Given the description of an element on the screen output the (x, y) to click on. 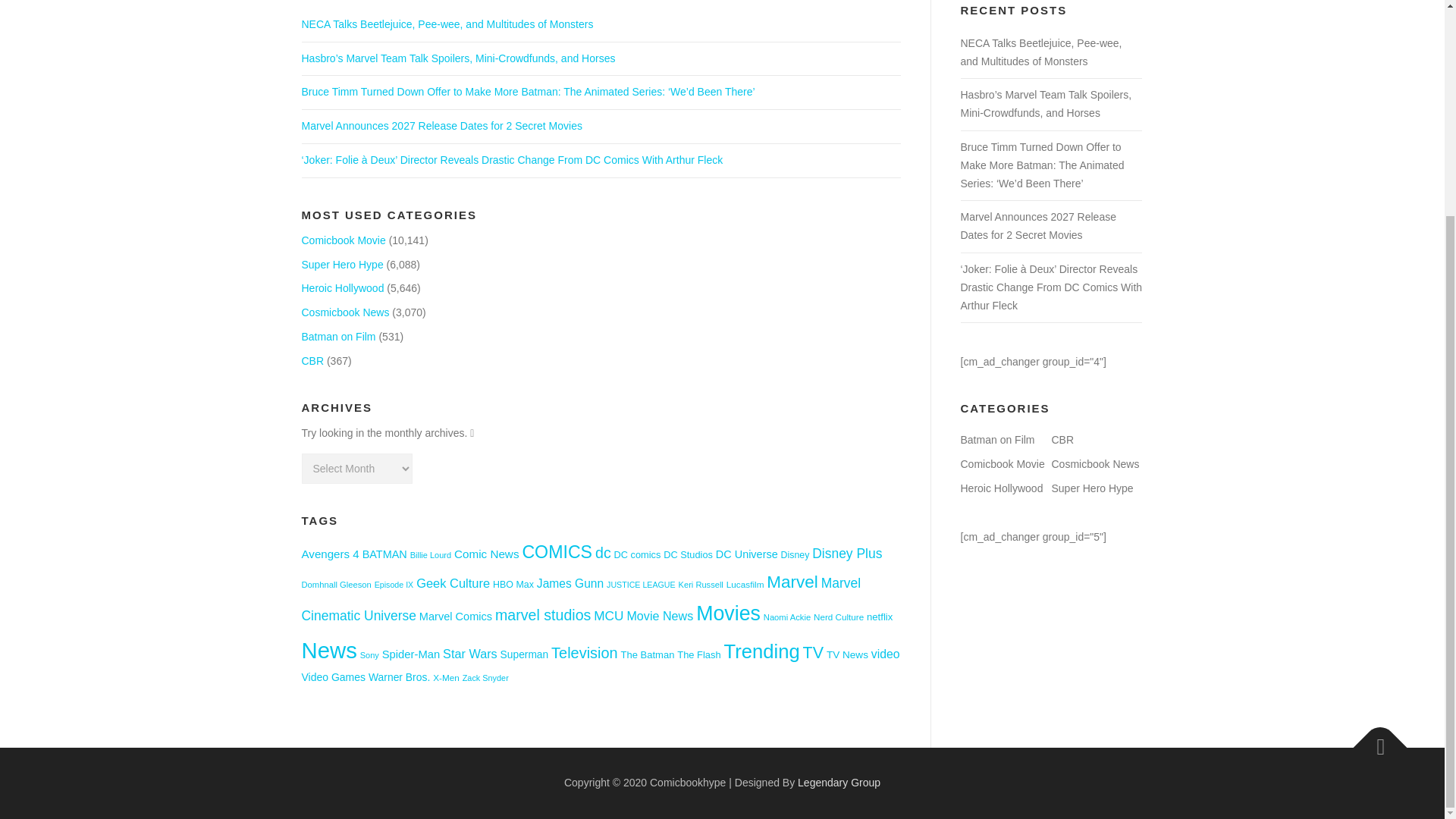
Geek Culture (452, 582)
HBO Max (513, 584)
Super Hero Hype (342, 264)
Comic News (486, 553)
JUSTICE LEAGUE (641, 583)
DC Studios (688, 554)
Domhnall Gleeson (336, 583)
Avengers 4 (330, 553)
Keri Russell (700, 583)
Disney (794, 554)
Comicbook Movie (343, 240)
CBR (312, 360)
Disney Plus (847, 553)
Batman on Film (338, 336)
Marvel Announces 2027 Release Dates for 2 Secret Movies (441, 125)
